Given the description of an element on the screen output the (x, y) to click on. 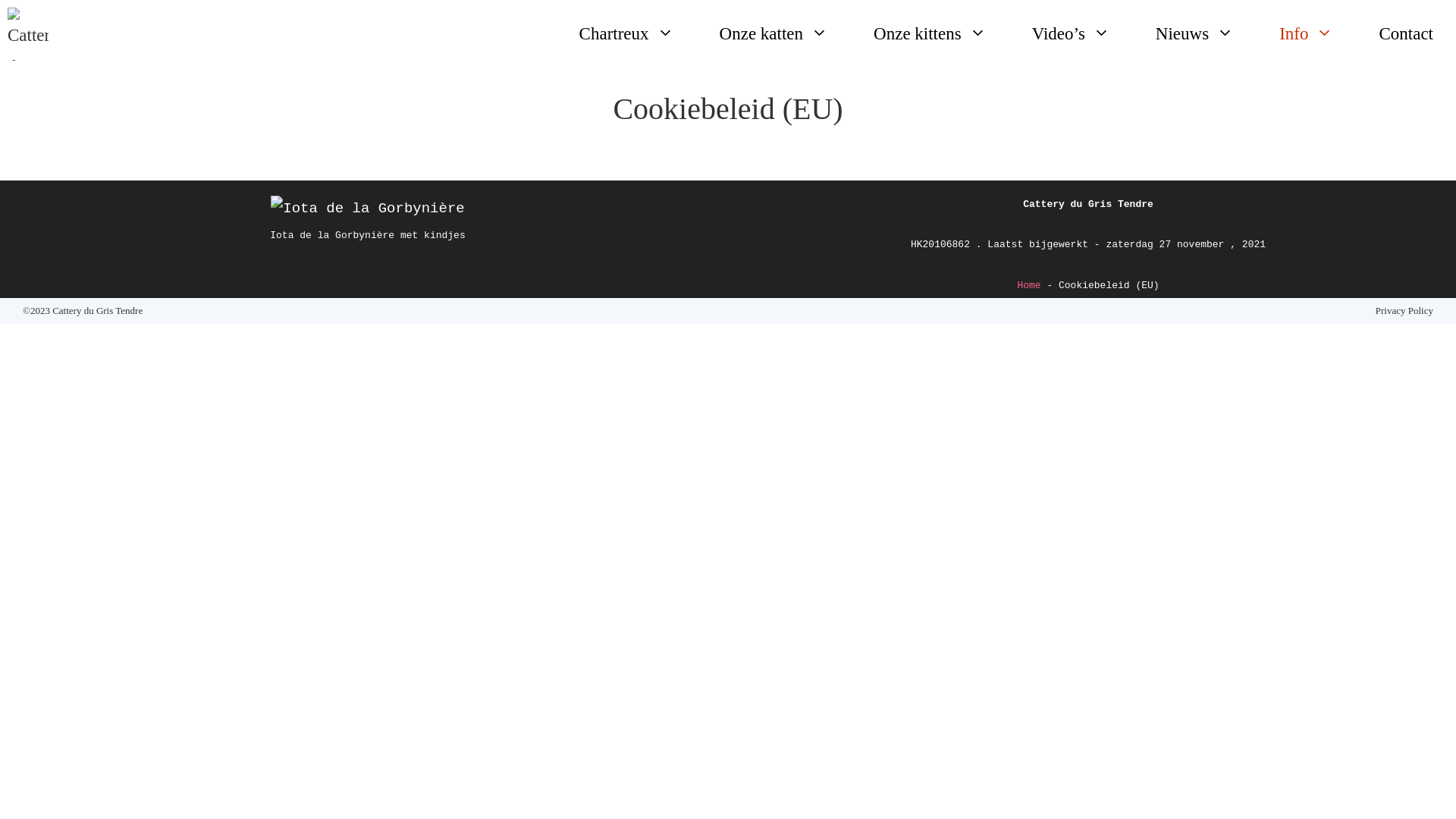
Chartreux Element type: text (626, 34)
Cattery du Gris Tendre Element type: hover (27, 34)
Onze katten Element type: text (773, 34)
Nieuws Element type: text (1194, 34)
Info Element type: text (1305, 34)
Onze kittens Element type: text (929, 34)
Privacy Policy Element type: text (1404, 310)
Home Element type: text (1028, 285)
